Given the description of an element on the screen output the (x, y) to click on. 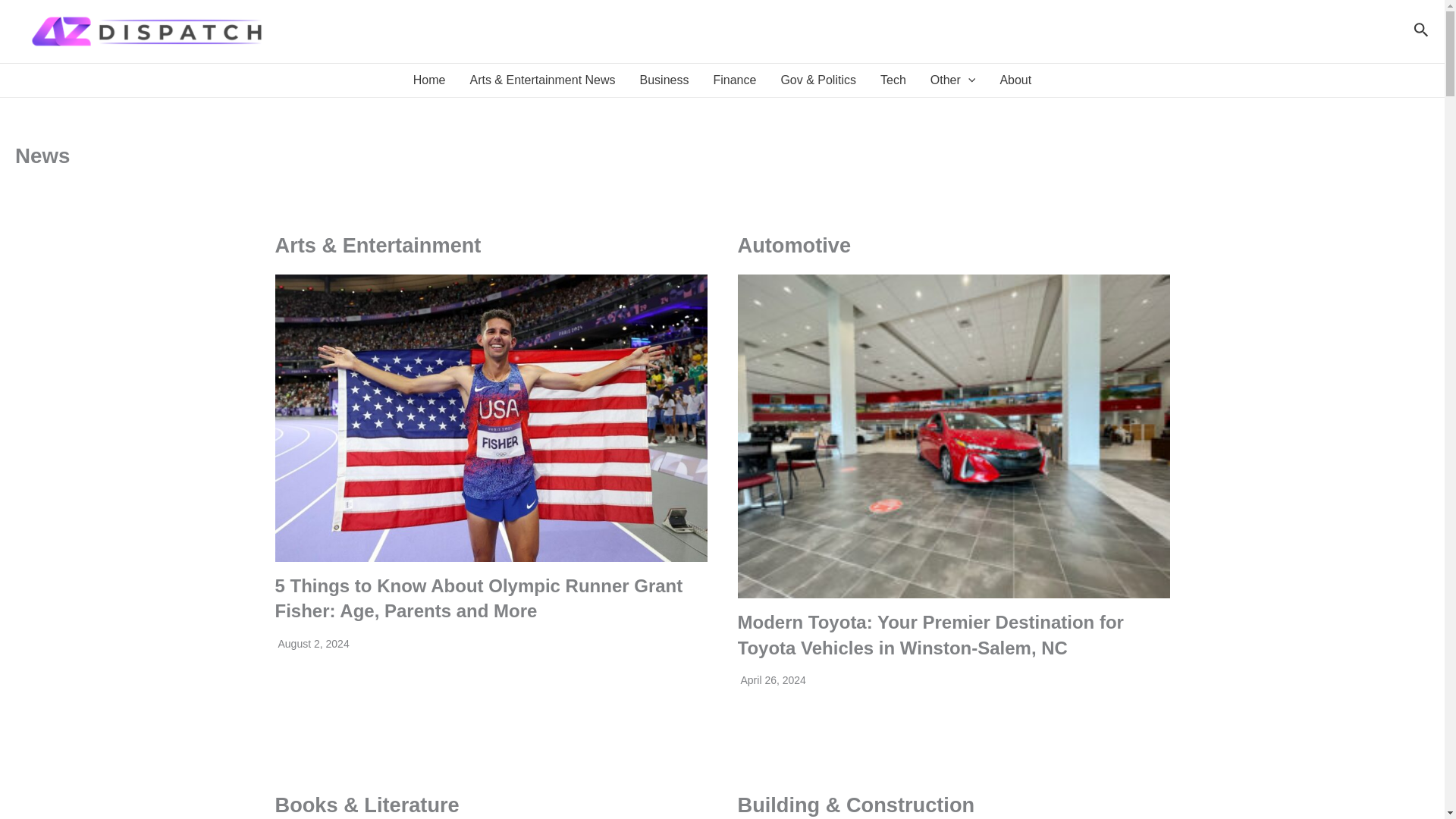
Finance (734, 80)
Business (664, 80)
About (1015, 80)
Other (953, 80)
Tech (892, 80)
Home (429, 80)
